Given the description of an element on the screen output the (x, y) to click on. 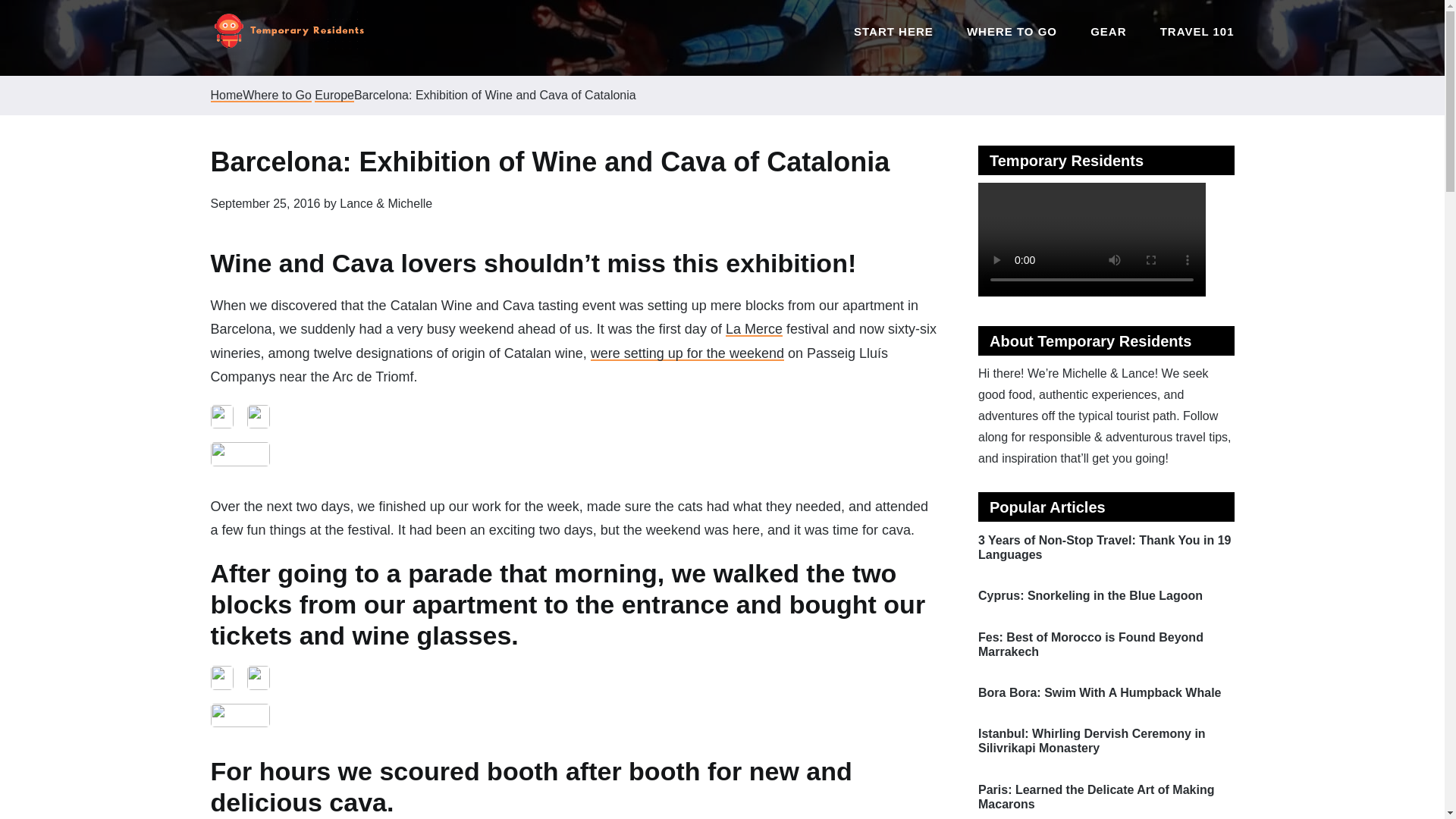
Europe (333, 94)
Temporary Residents (288, 33)
were setting up for the weekend (687, 353)
Where to Go (277, 94)
GEAR (1107, 39)
WHERE TO GO (1011, 39)
Home (227, 94)
TRAVEL 101 (1197, 39)
La Merce (754, 328)
START HERE (893, 39)
3 Years of Non-Stop Travel: Thank You in 19 Languages (1104, 547)
